Given the description of an element on the screen output the (x, y) to click on. 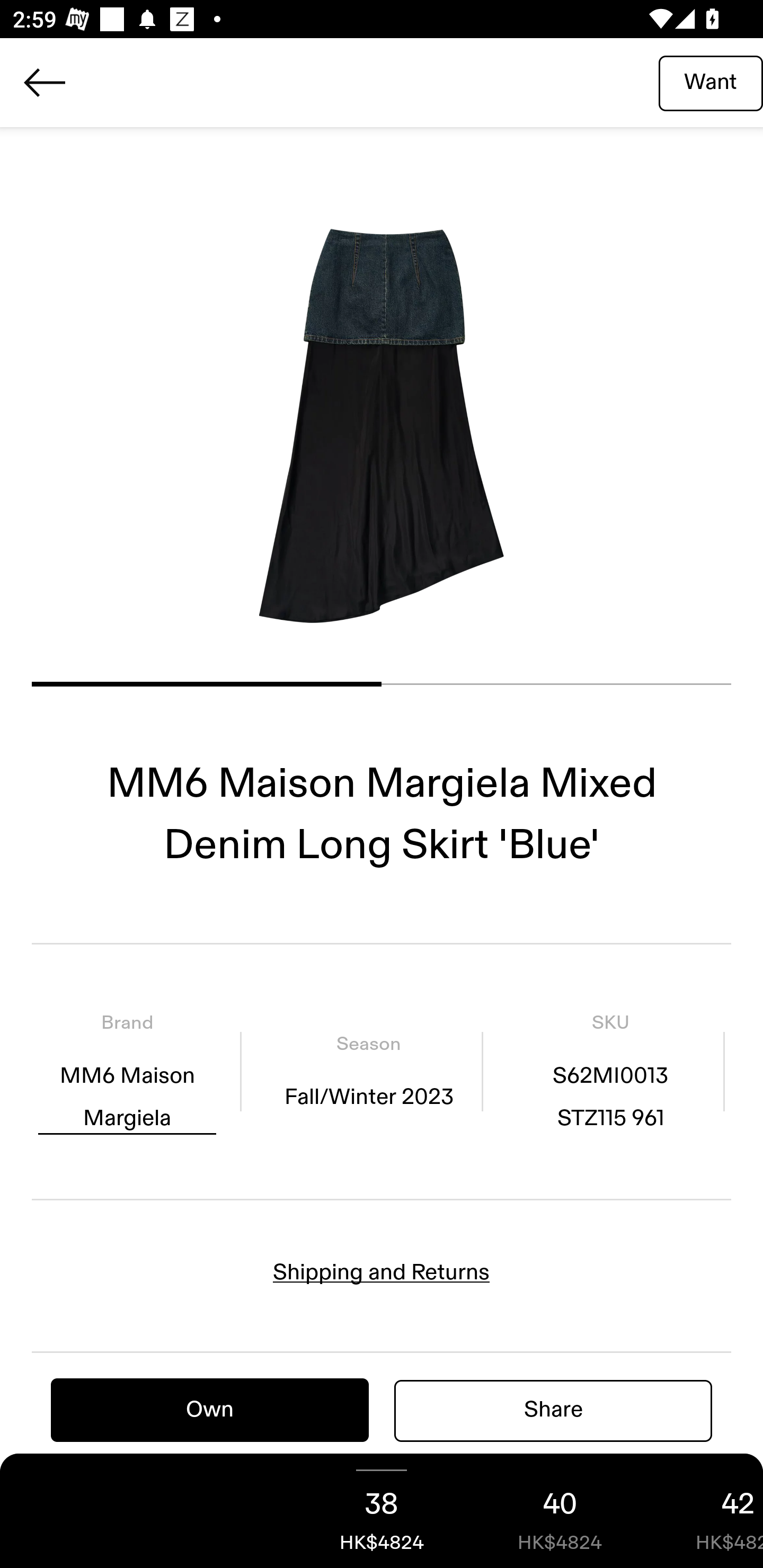
Want (710, 82)
Brand MM6 Maison Margiela (126, 1070)
Season Fall/Winter 2023 (368, 1070)
SKU S62MI0013 STZ115 961 (609, 1070)
Shipping and Returns (381, 1272)
Own (209, 1410)
Share (552, 1410)
38 HK$4824 (381, 1510)
40 HK$4824 (559, 1510)
42 HK$4824 (705, 1510)
